Given the description of an element on the screen output the (x, y) to click on. 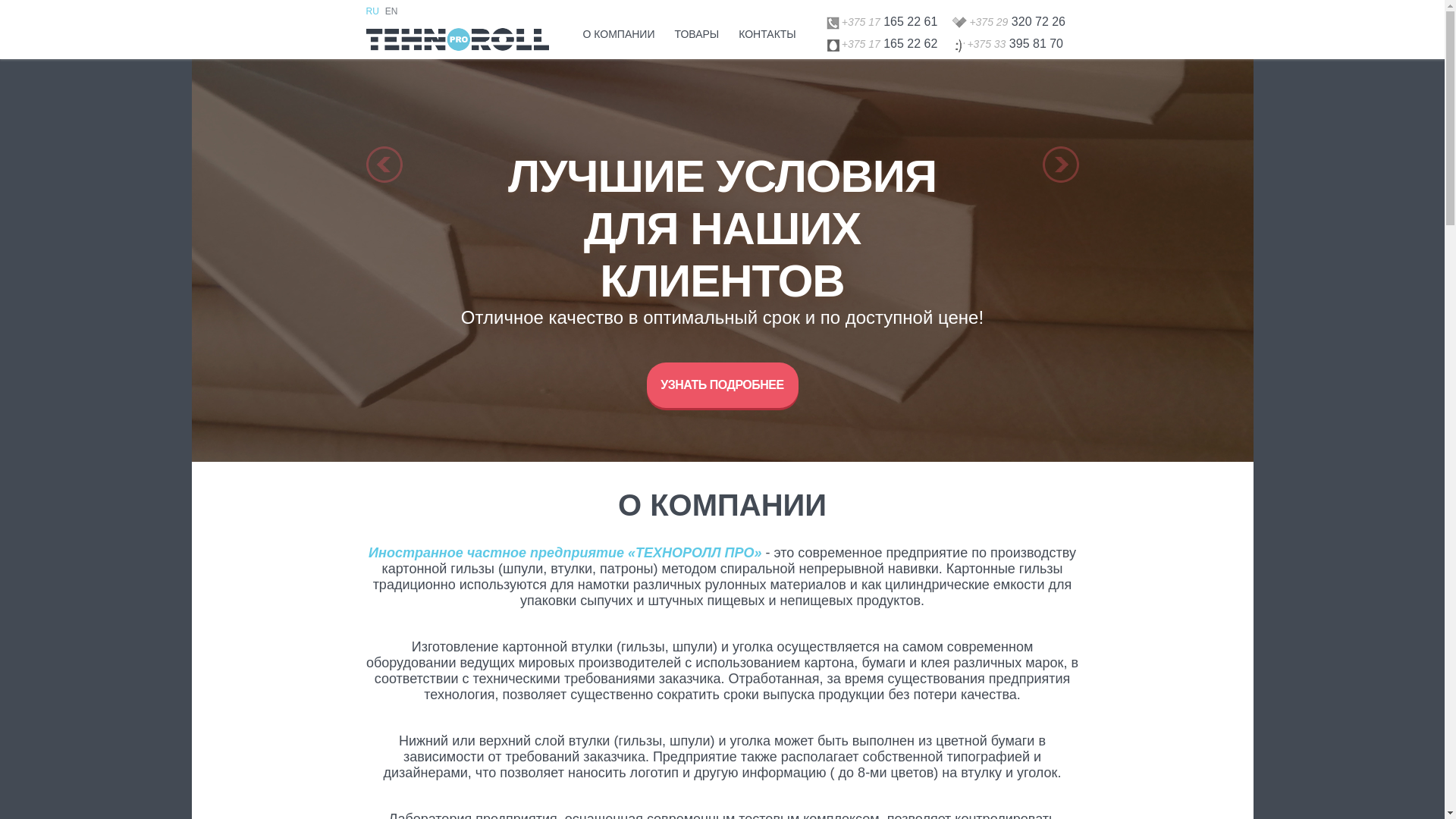
RU Element type: text (371, 11)
EN Element type: text (391, 11)
